Given the description of an element on the screen output the (x, y) to click on. 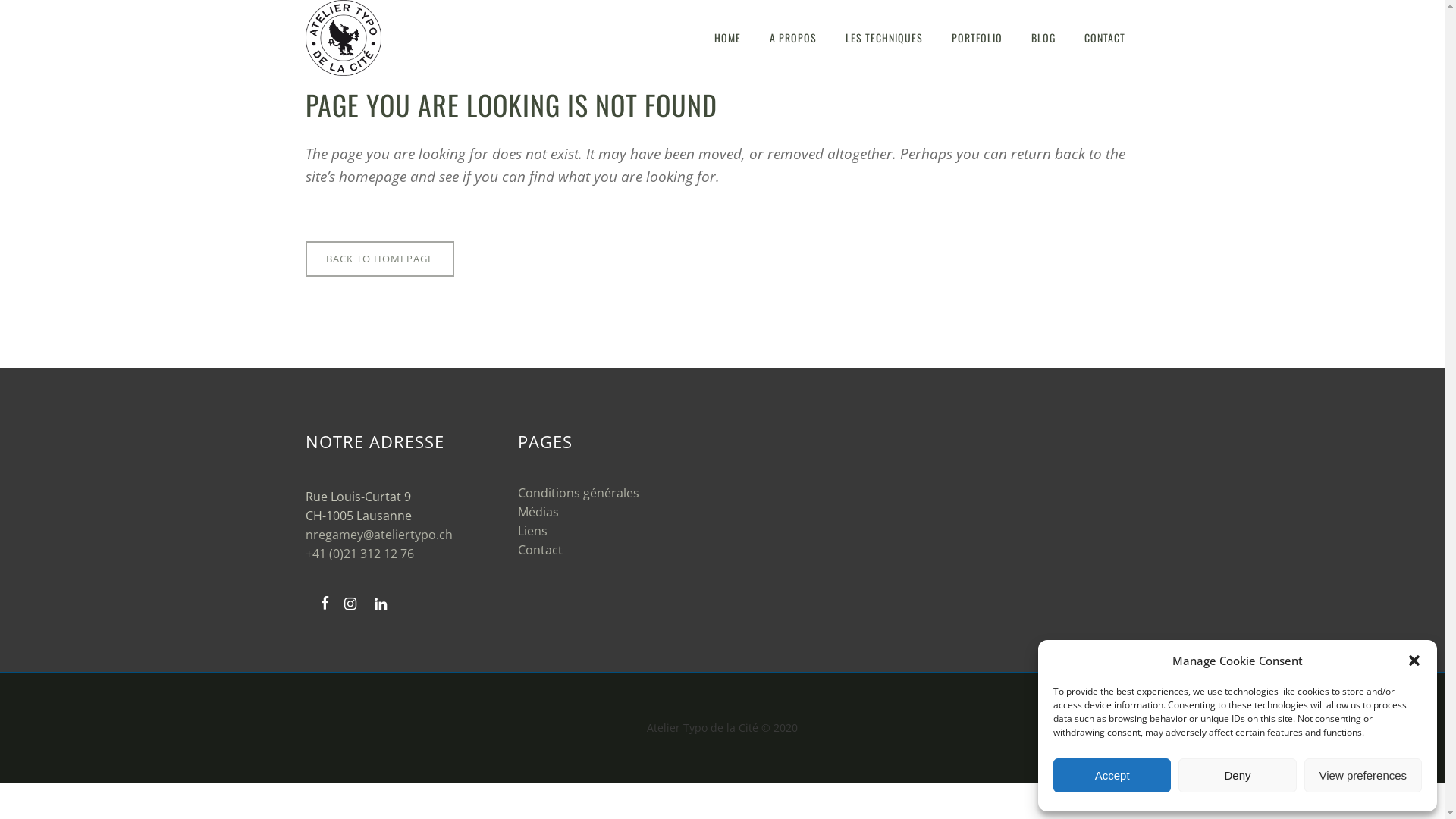
HOME Element type: text (726, 37)
BLOG Element type: text (1042, 37)
Deny Element type: text (1236, 775)
Accept Element type: text (1111, 775)
View preferences Element type: text (1362, 775)
CONTACT Element type: text (1104, 37)
A PROPOS Element type: text (793, 37)
nregamey@ateliertypo.ch
+41 (0)21 312 12 76 Element type: text (403, 556)
PORTFOLIO Element type: text (976, 37)
LES TECHNIQUES Element type: text (884, 37)
BACK TO HOMEPAGE Element type: text (378, 258)
Contact Element type: text (539, 549)
Liens Element type: text (531, 530)
